Given the description of an element on the screen output the (x, y) to click on. 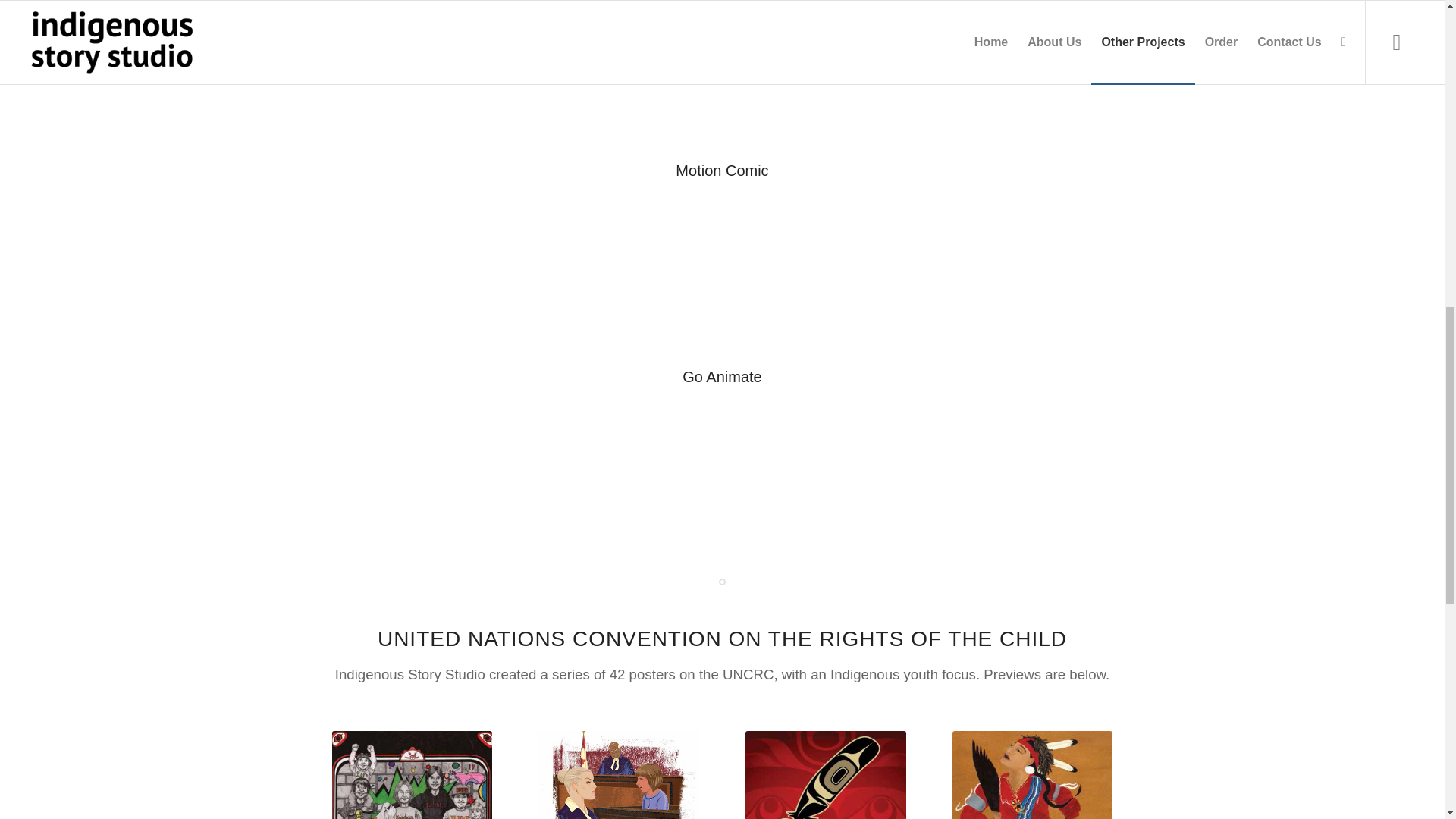
interior Health Cultural Safety Video (997, 82)
